Given the description of an element on the screen output the (x, y) to click on. 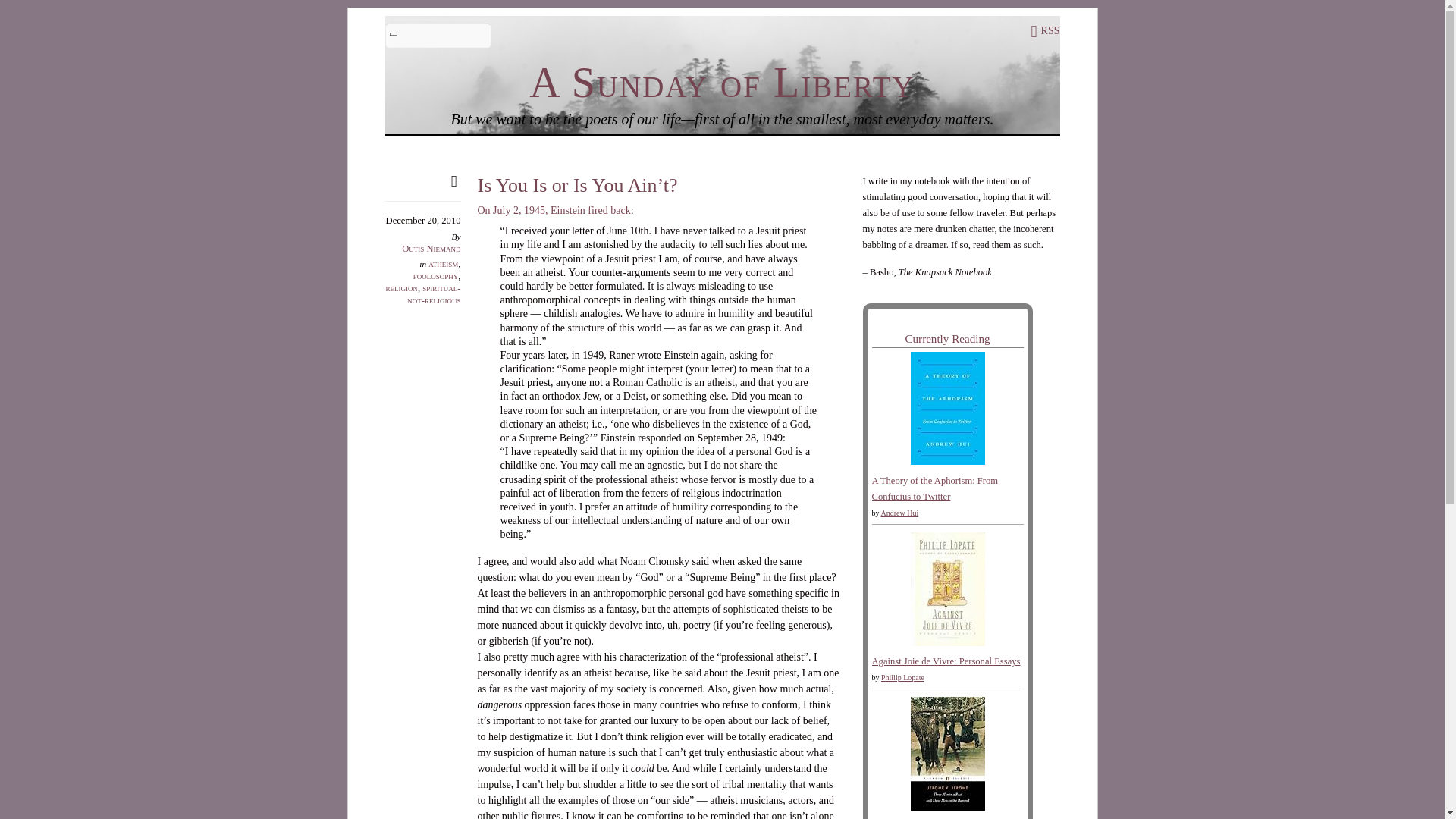
Against Joie de Vivre: Personal Essays (947, 643)
A Sunday of Liberty (721, 82)
A Theory of the Aphorism: From Confucius to Twitter (935, 488)
RSS (1044, 30)
A Sunday of Liberty (721, 82)
Against Joie de Vivre: Personal Essays (946, 661)
On July 2, 1945, Einstein fired back (553, 210)
spiritual-not-religious (433, 293)
Andrew Hui (899, 512)
atheism (443, 263)
